Given the description of an element on the screen output the (x, y) to click on. 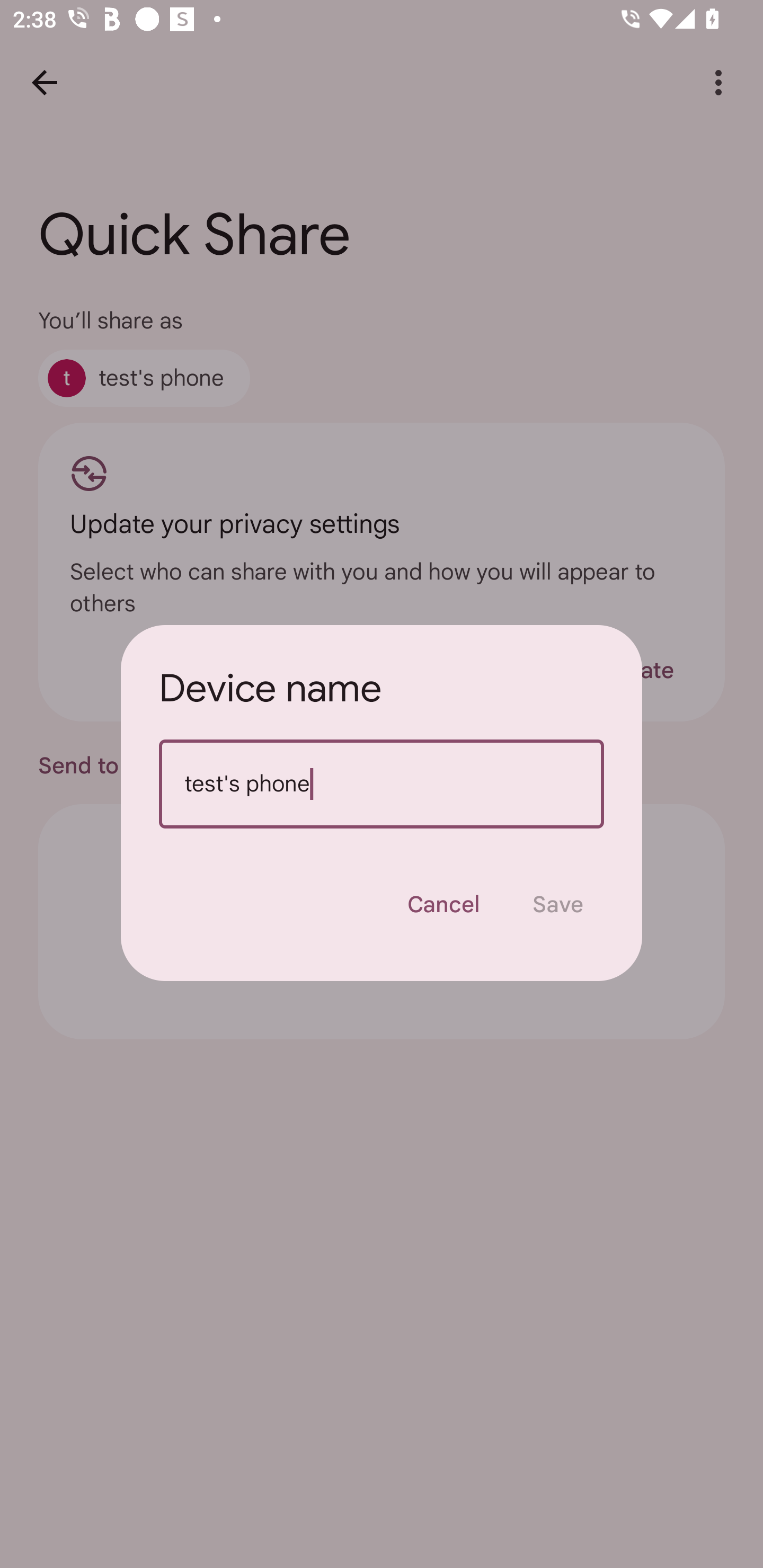
test's phone Device name (381, 783)
Cancel (443, 904)
Save (557, 904)
